Given the description of an element on the screen output the (x, y) to click on. 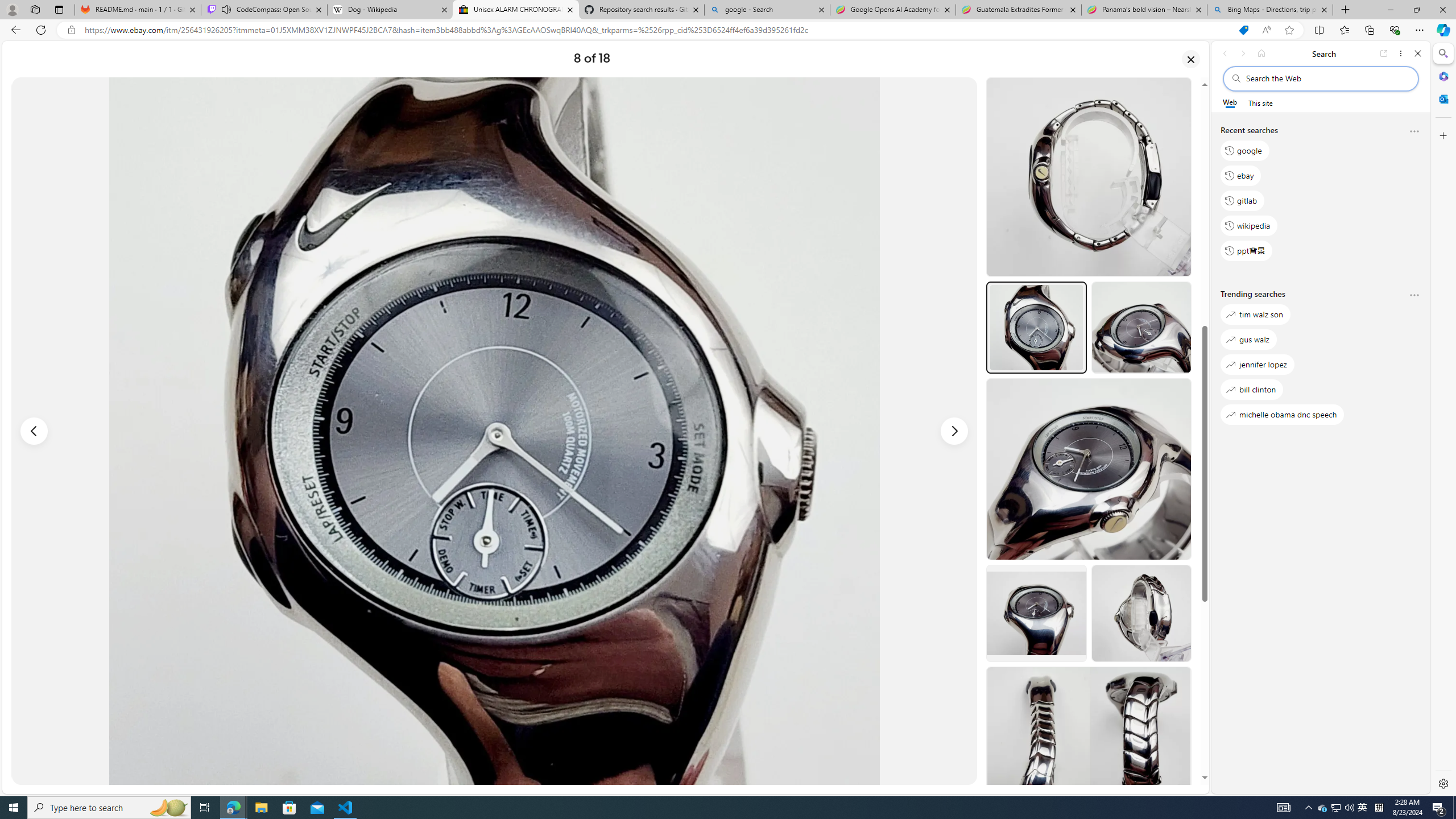
gus walz (1248, 339)
tim walz son (1255, 314)
Next image - Item images thumbnails (954, 430)
